Given the description of an element on the screen output the (x, y) to click on. 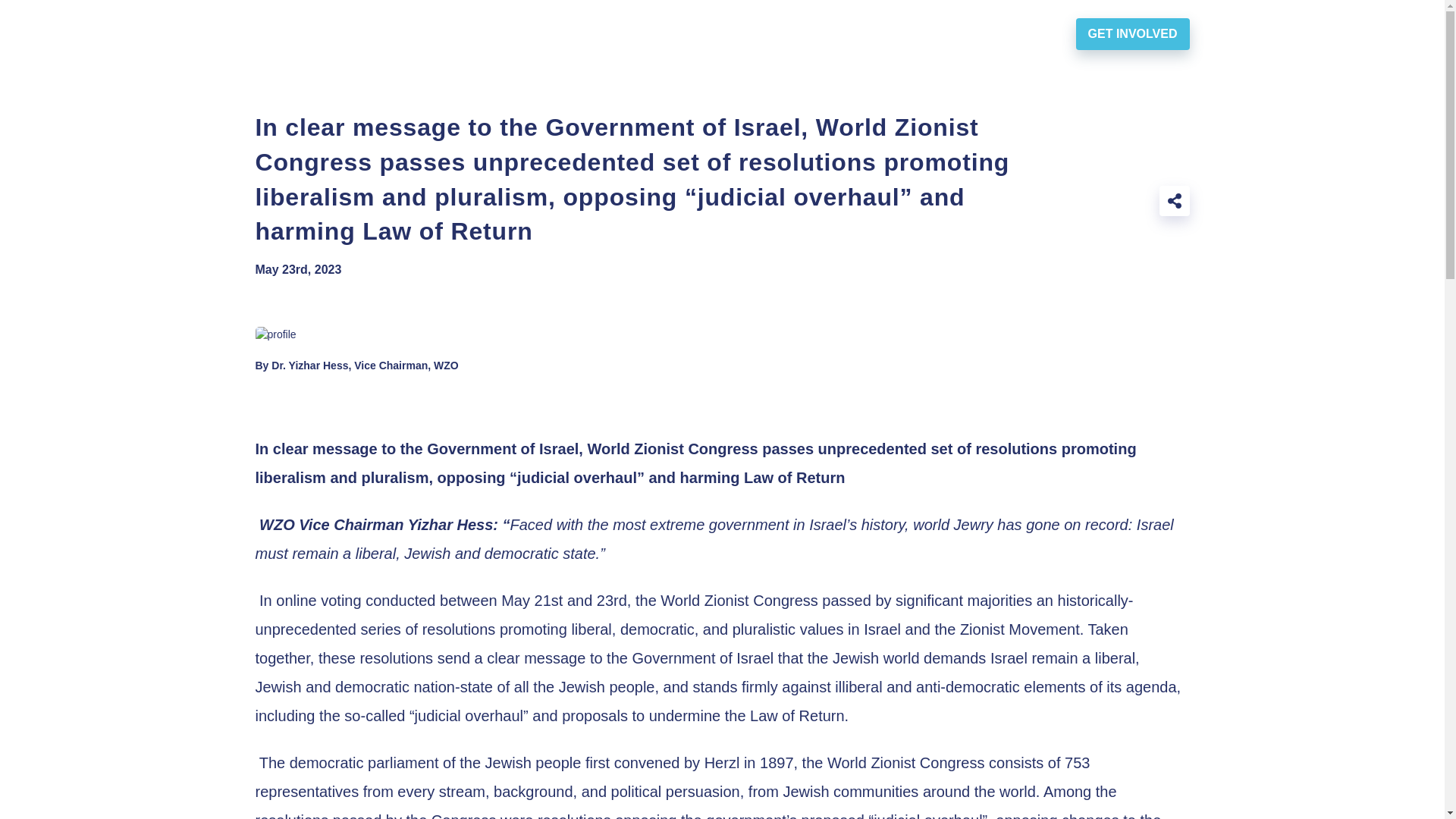
HOME (516, 33)
WHAT WE DO (736, 33)
THE NATIONAL INSTITUTIONS (896, 33)
GET INVOLVED (1132, 33)
WHO WE ARE (617, 33)
